Given the description of an element on the screen output the (x, y) to click on. 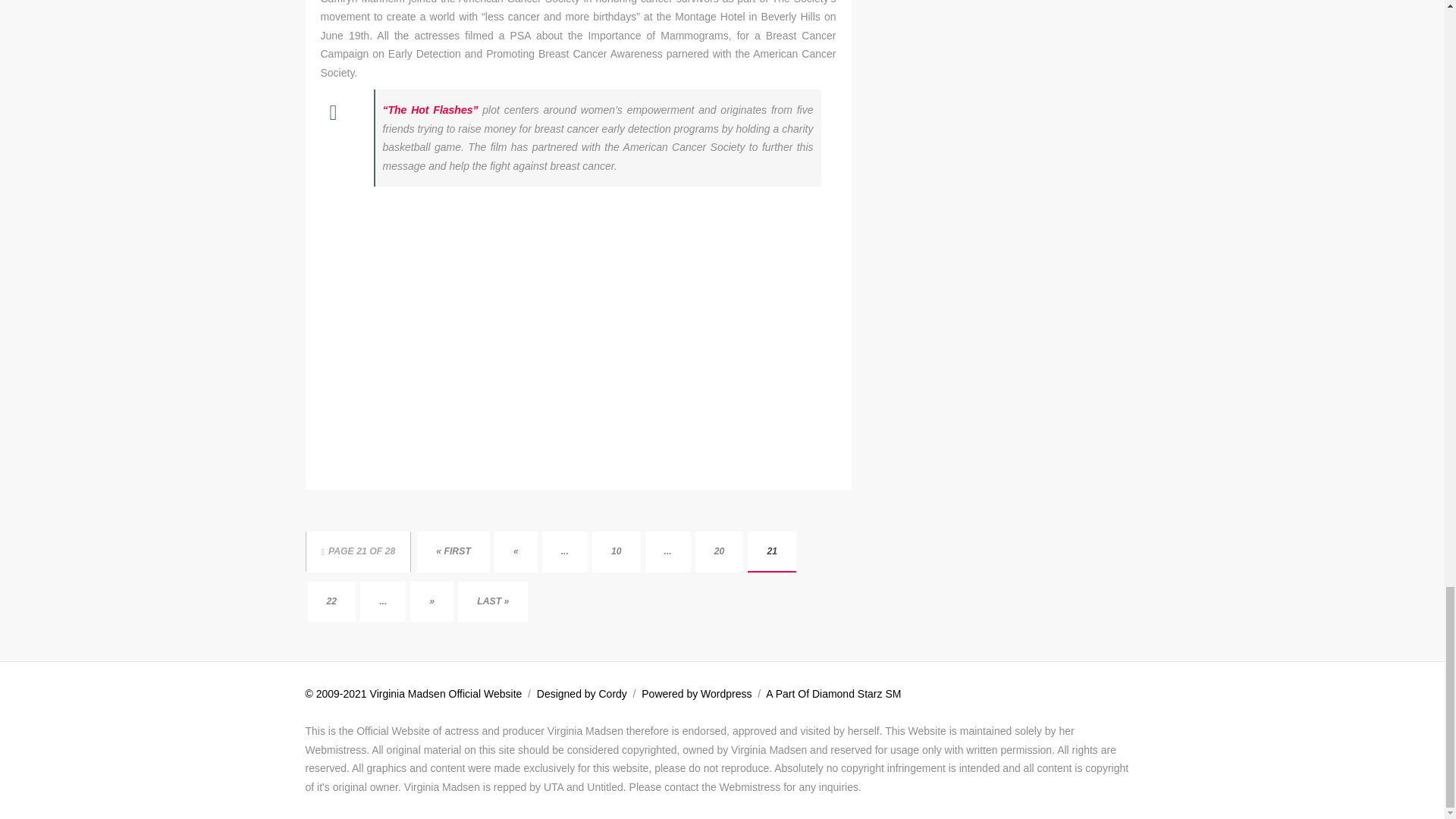
20 (719, 551)
22 (331, 601)
10 (616, 551)
Page 20 (719, 551)
Page 10 (616, 551)
Page 22 (331, 601)
